Given the description of an element on the screen output the (x, y) to click on. 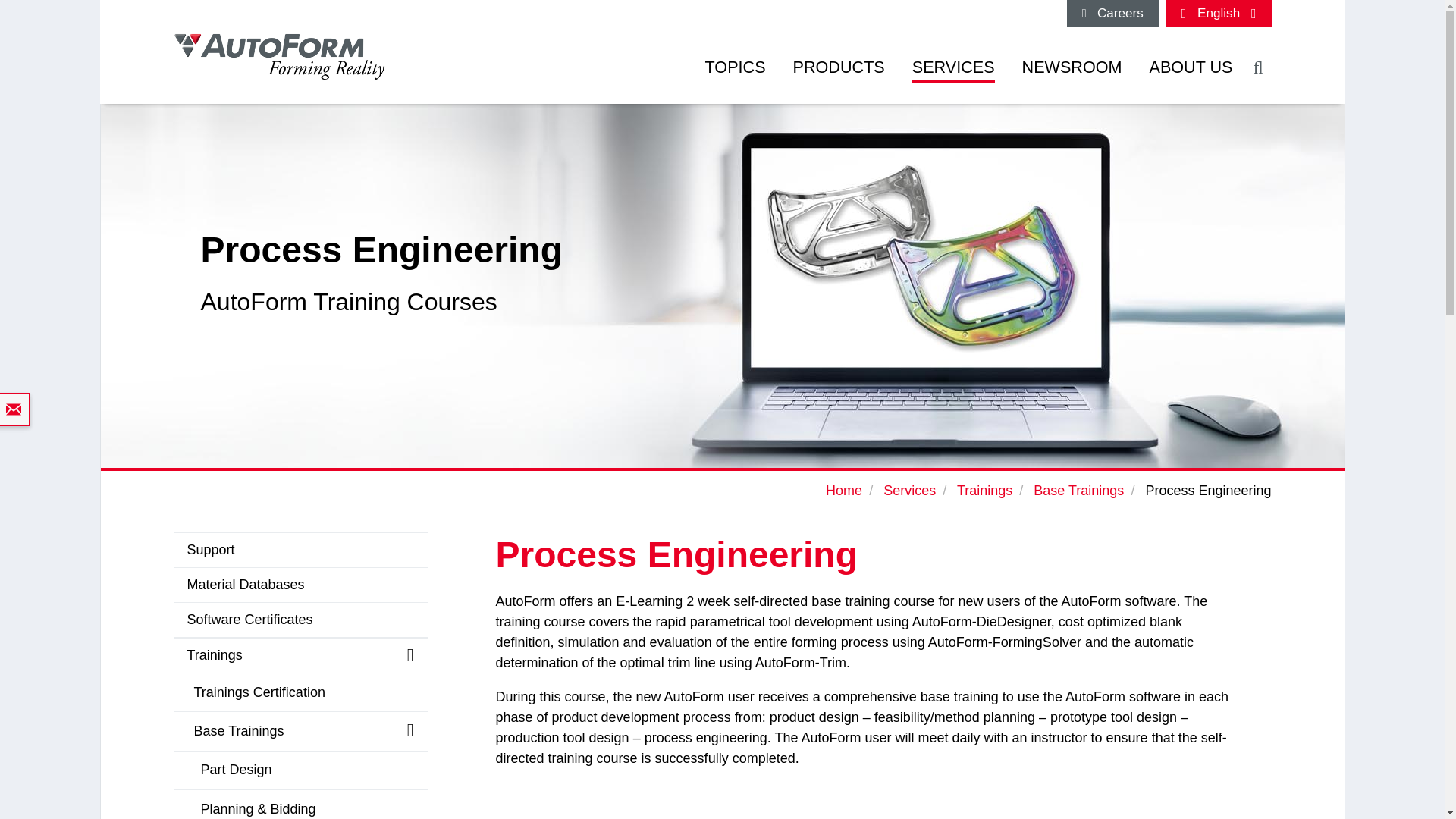
TOPICS (735, 75)
AutoForm Engineering (279, 57)
Careers (1112, 13)
Topics (735, 75)
English (1218, 13)
  Careers (1112, 13)
